Given the description of an element on the screen output the (x, y) to click on. 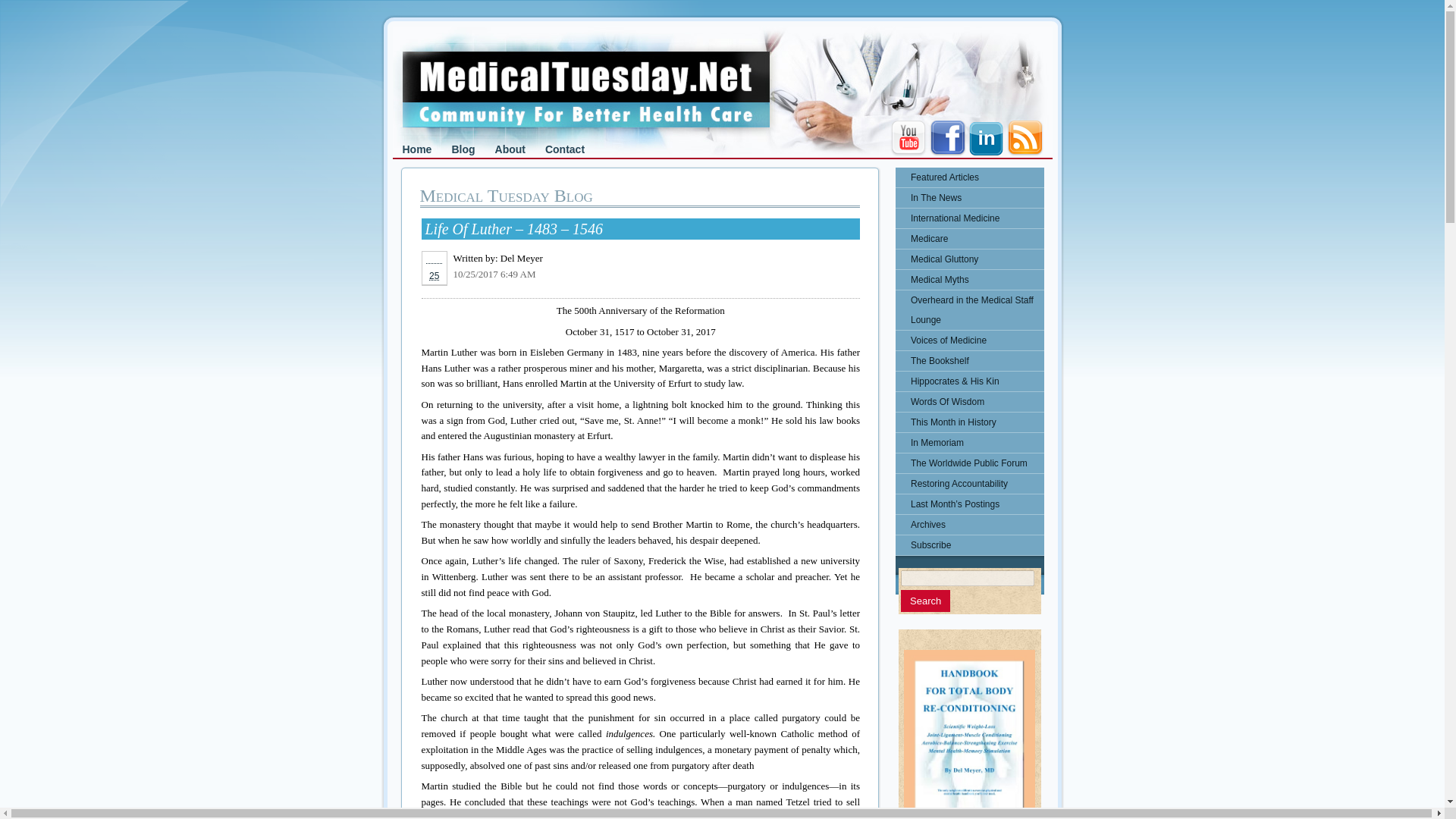
Voices of Medicine (969, 340)
International Medicine (969, 218)
Blog (462, 148)
In The News (969, 198)
Subscribe (969, 545)
Search (925, 600)
Medical Gluttony (969, 259)
Featured Articles (969, 177)
Restoring Accountability (969, 483)
Medicare (969, 238)
